Given the description of an element on the screen output the (x, y) to click on. 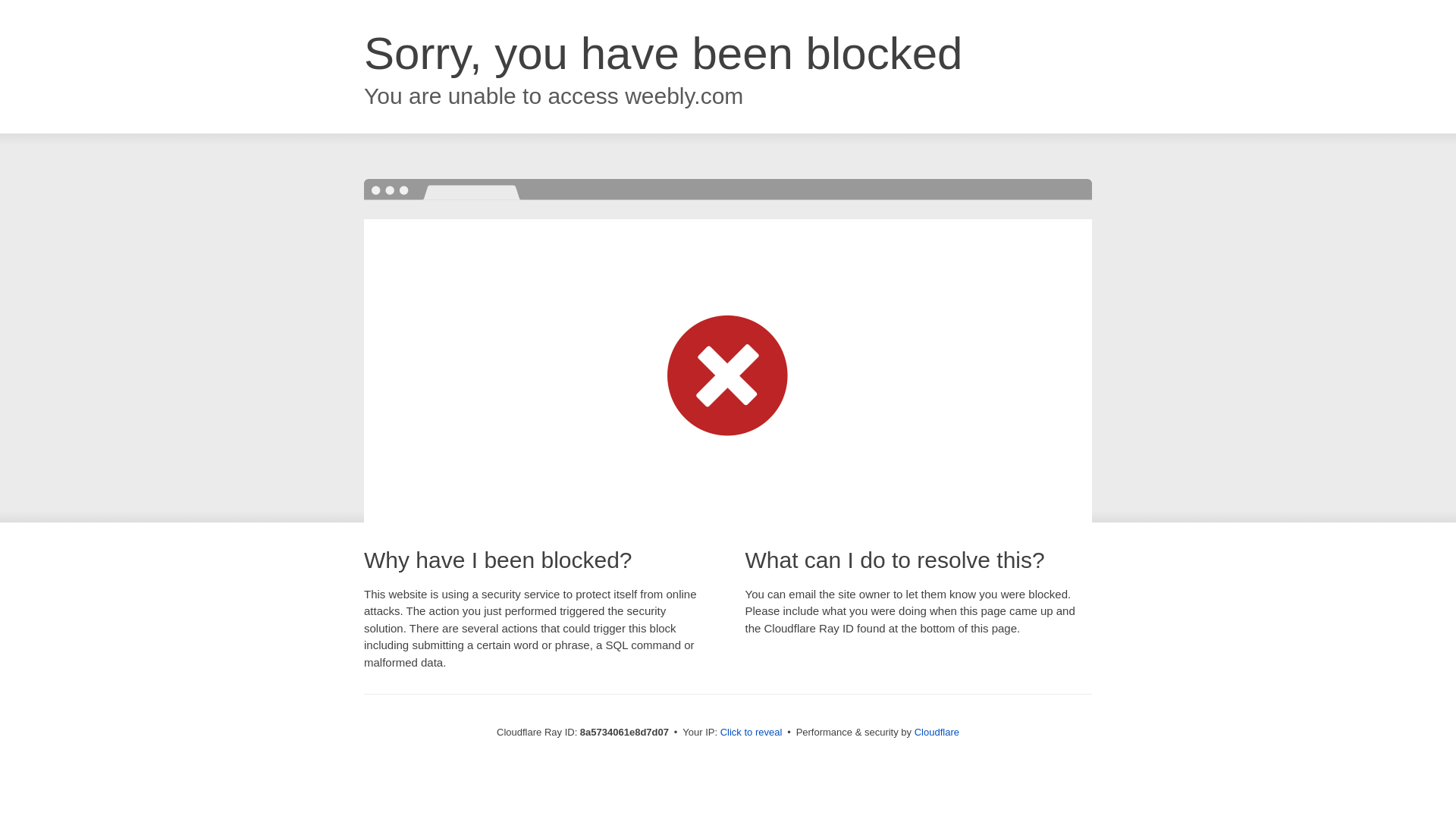
Click to reveal (751, 732)
Cloudflare (936, 731)
